Given the description of an element on the screen output the (x, y) to click on. 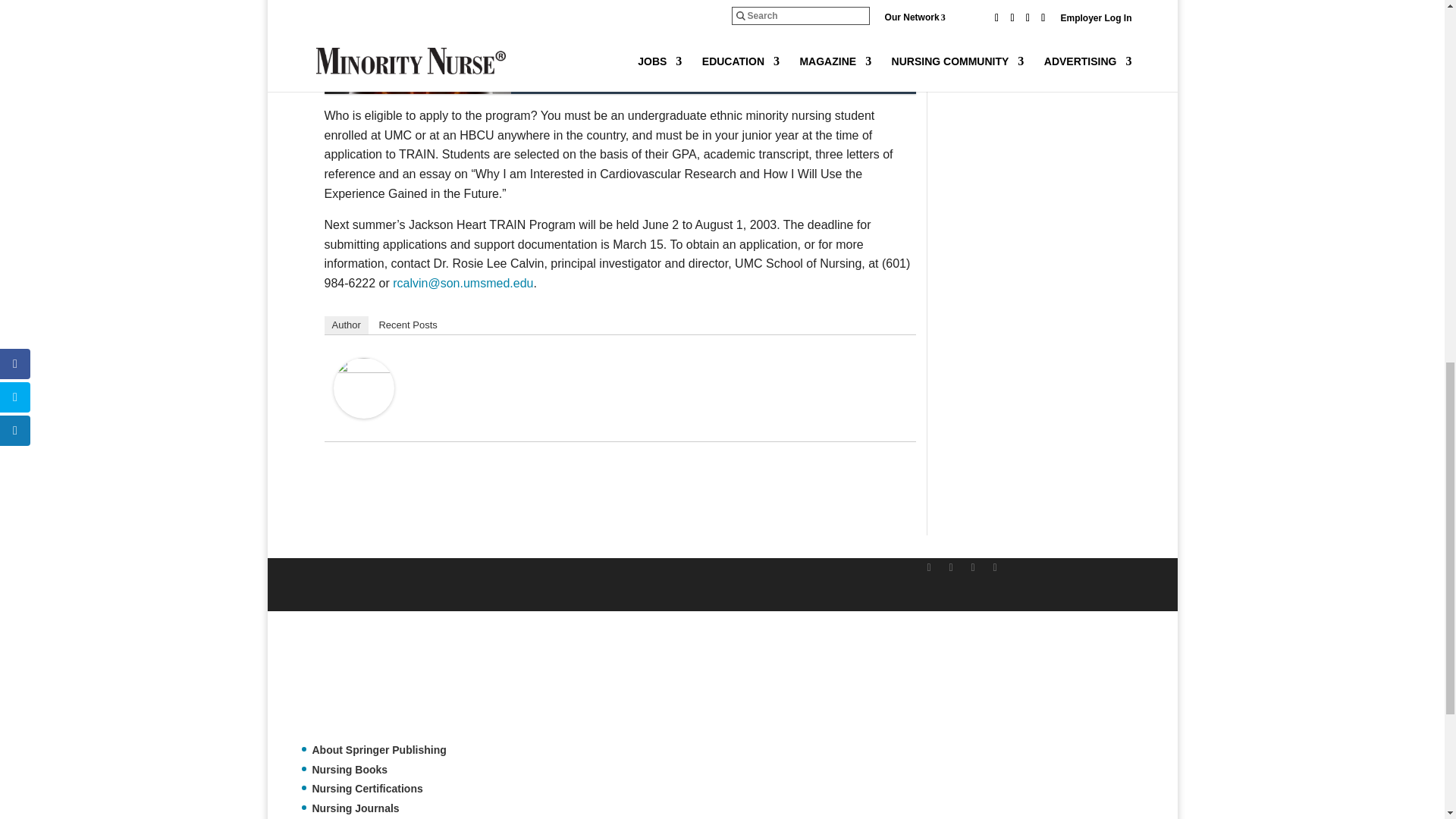
Springer Publishing Company (376, 683)
